Given the description of an element on the screen output the (x, y) to click on. 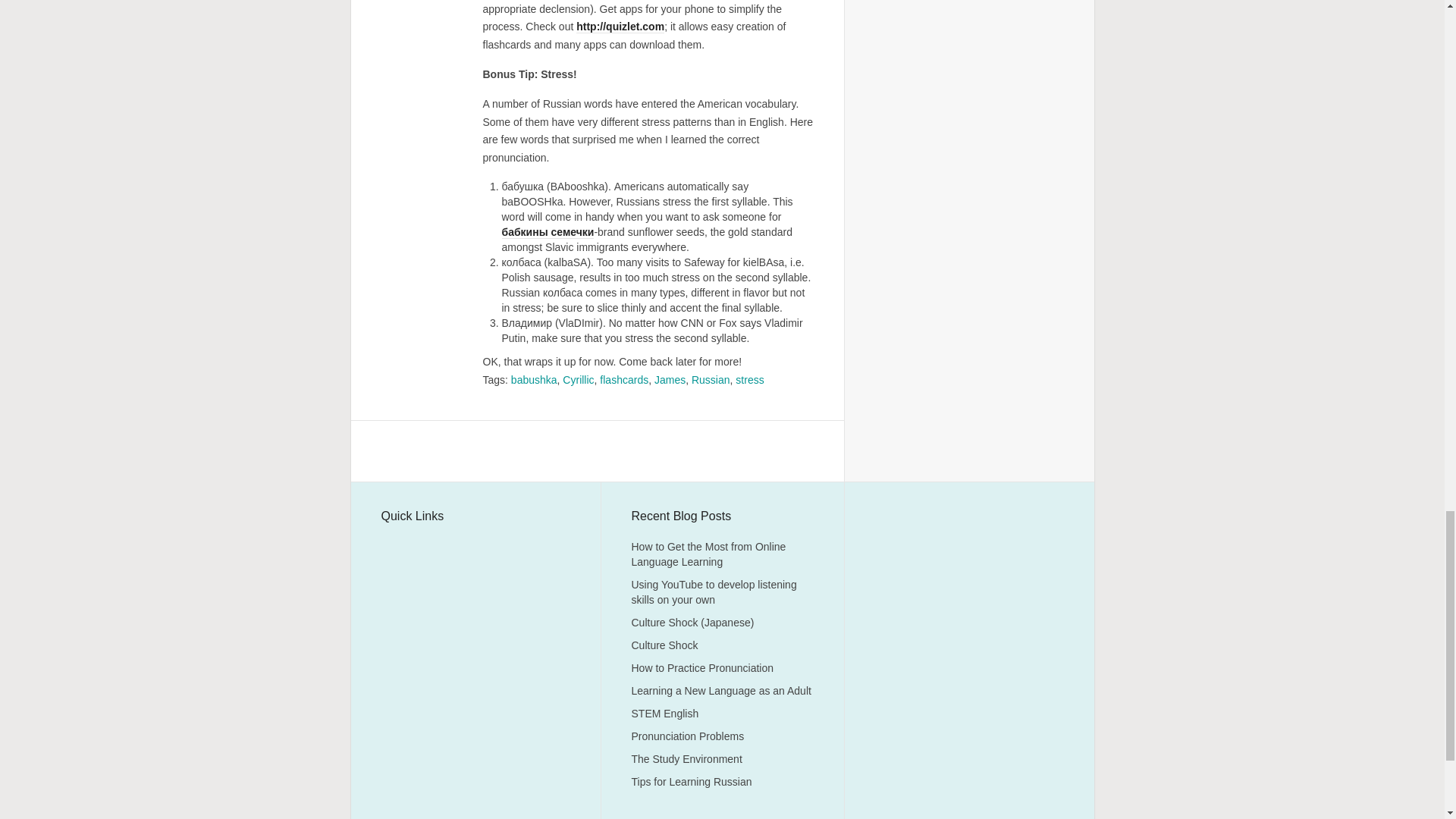
How to Practice Pronunciation (701, 667)
babushka (534, 379)
Using YouTube to develop listening skills on your own (713, 592)
Pronunciation Problems (687, 736)
Culture Shock (663, 645)
Learning a New Language as an Adult (720, 690)
The Study Environment (685, 758)
flashcards (623, 379)
STEM English (664, 713)
James (669, 379)
